Given the description of an element on the screen output the (x, y) to click on. 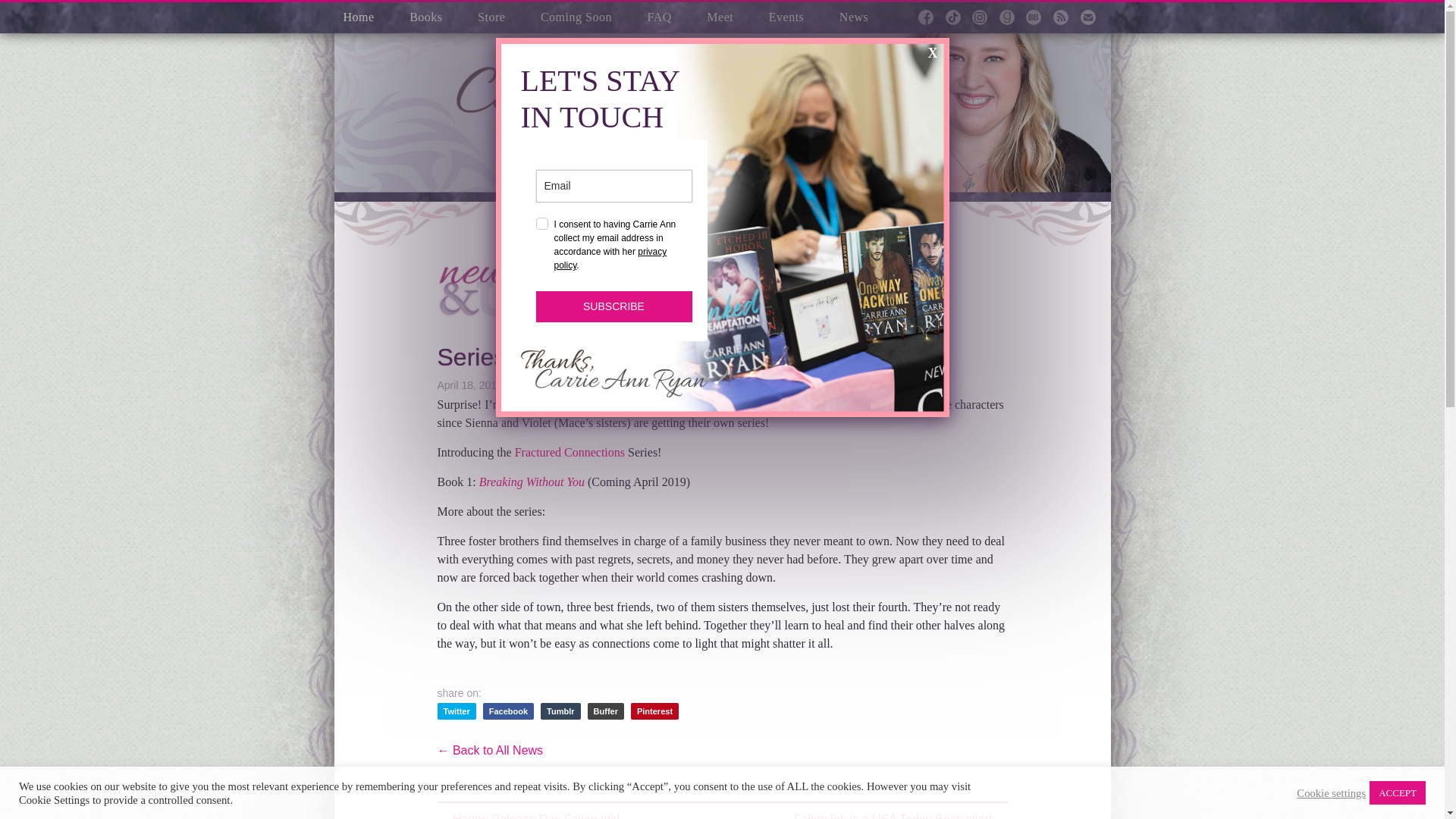
Twitter (456, 710)
Tumblr (559, 710)
Meet (719, 17)
News (853, 17)
content updates (746, 209)
Fallen Ink (777, 404)
Coming Soon (575, 17)
Facebook (508, 710)
Books (425, 17)
SUBSCRIBE (613, 306)
email (836, 209)
newsletter (689, 209)
txt alerts (801, 209)
Store (491, 17)
Fractured Connections (569, 451)
